Given the description of an element on the screen output the (x, y) to click on. 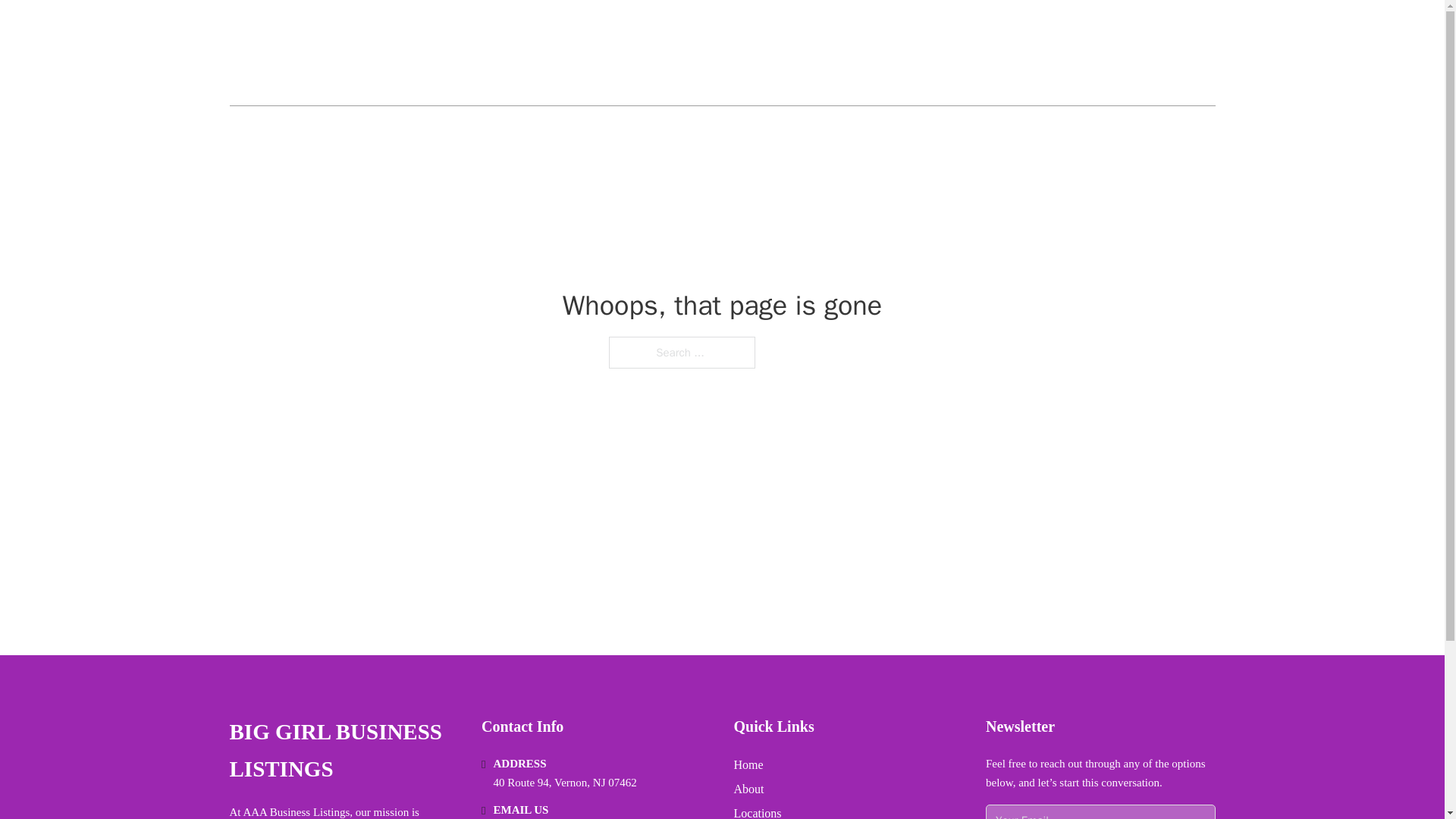
Home (747, 764)
About (748, 788)
HOME (1032, 53)
LOCATIONS (1105, 53)
Locations (757, 811)
BIG GIRL BUSINESS LISTINGS (343, 750)
BIG GIRL BUSINESS LISTINGS (400, 52)
